Given the description of an element on the screen output the (x, y) to click on. 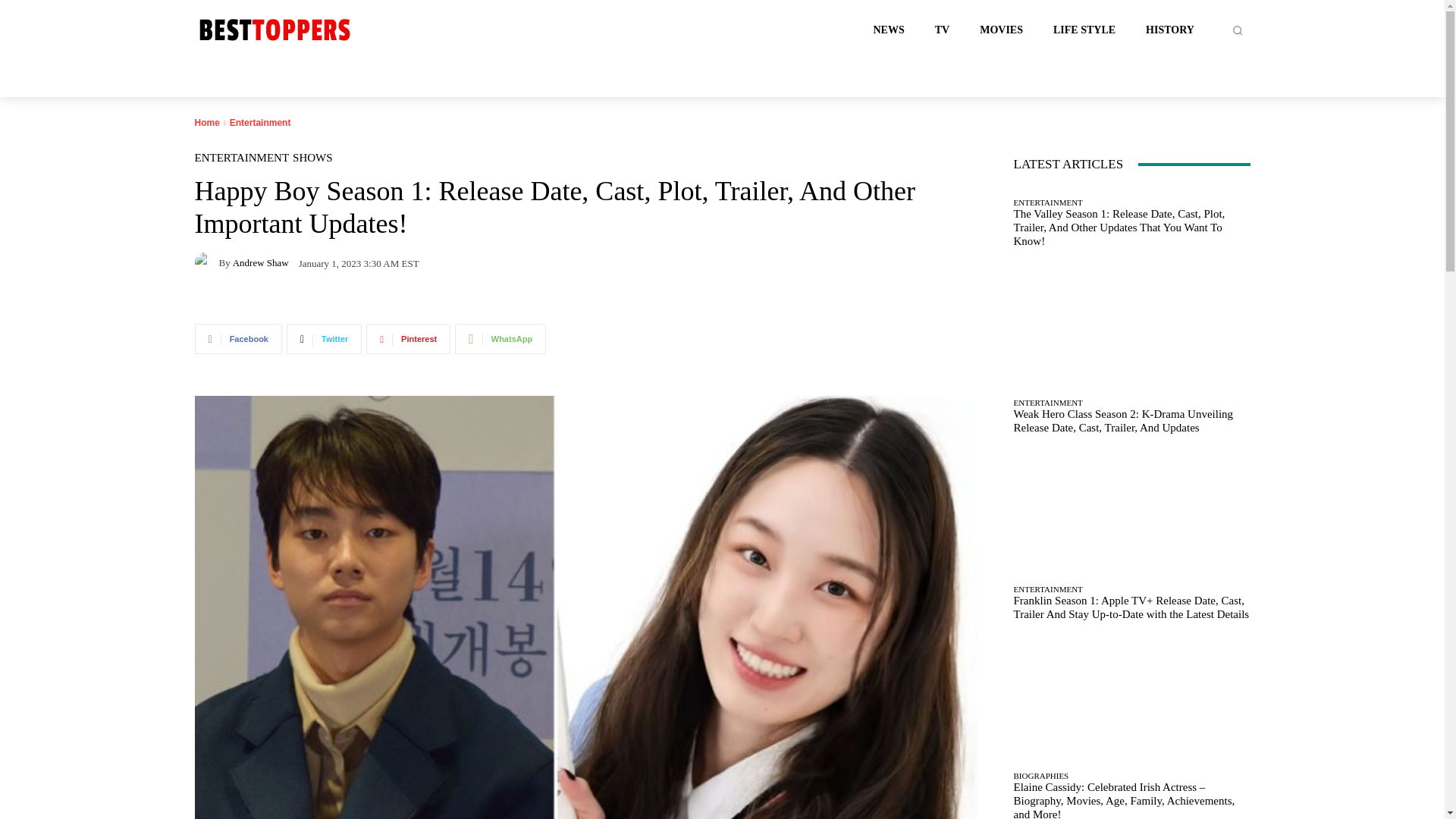
Home (206, 122)
ENTERTAINMENT (240, 157)
MOVIES (1001, 30)
TV (941, 30)
LIFE STYLE (1083, 30)
SHOWS (312, 157)
NEWS (888, 30)
HISTORY (1169, 30)
Entertainment (260, 122)
